Given the description of an element on the screen output the (x, y) to click on. 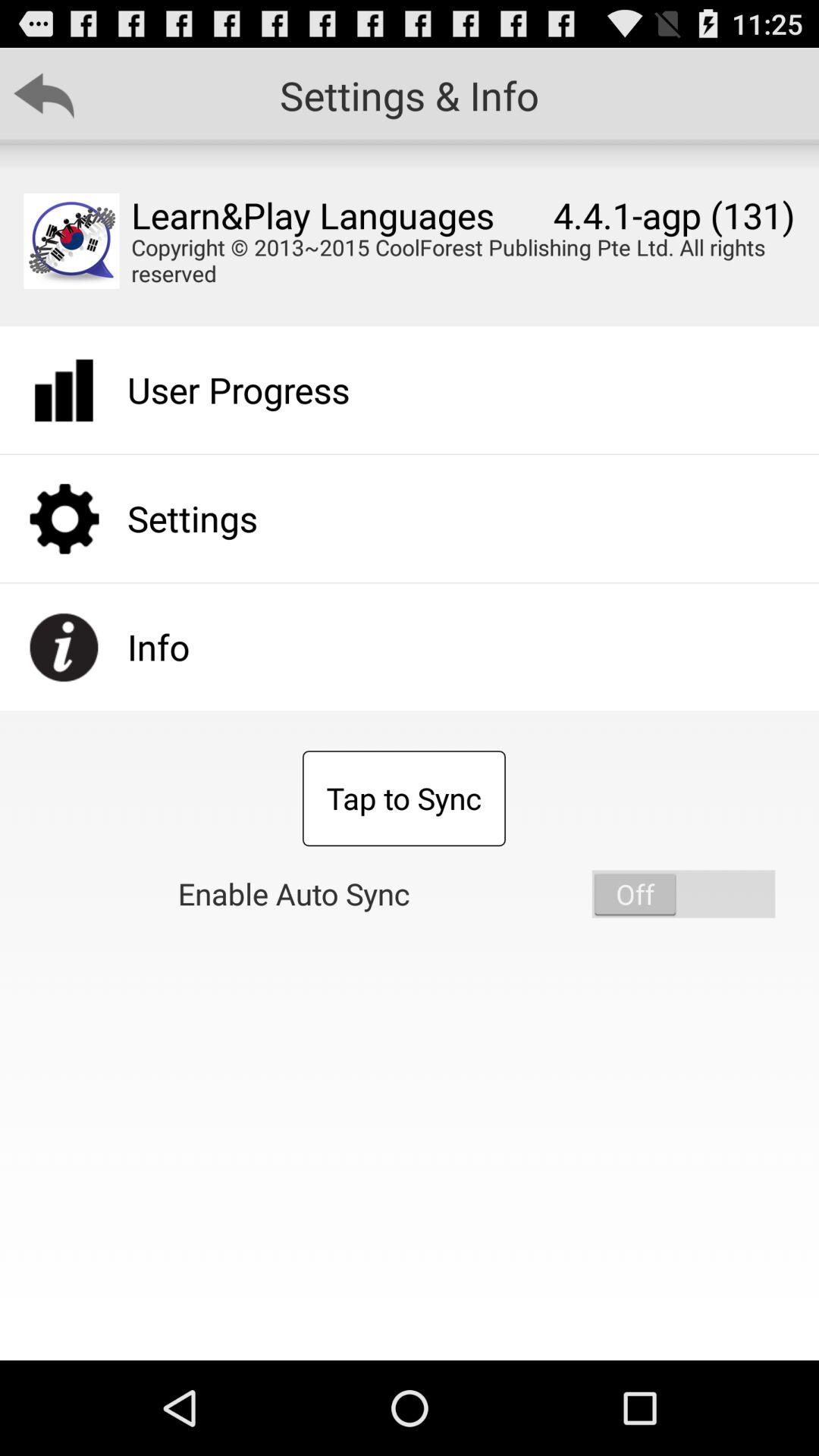
a button to enable on and off (683, 893)
